Given the description of an element on the screen output the (x, y) to click on. 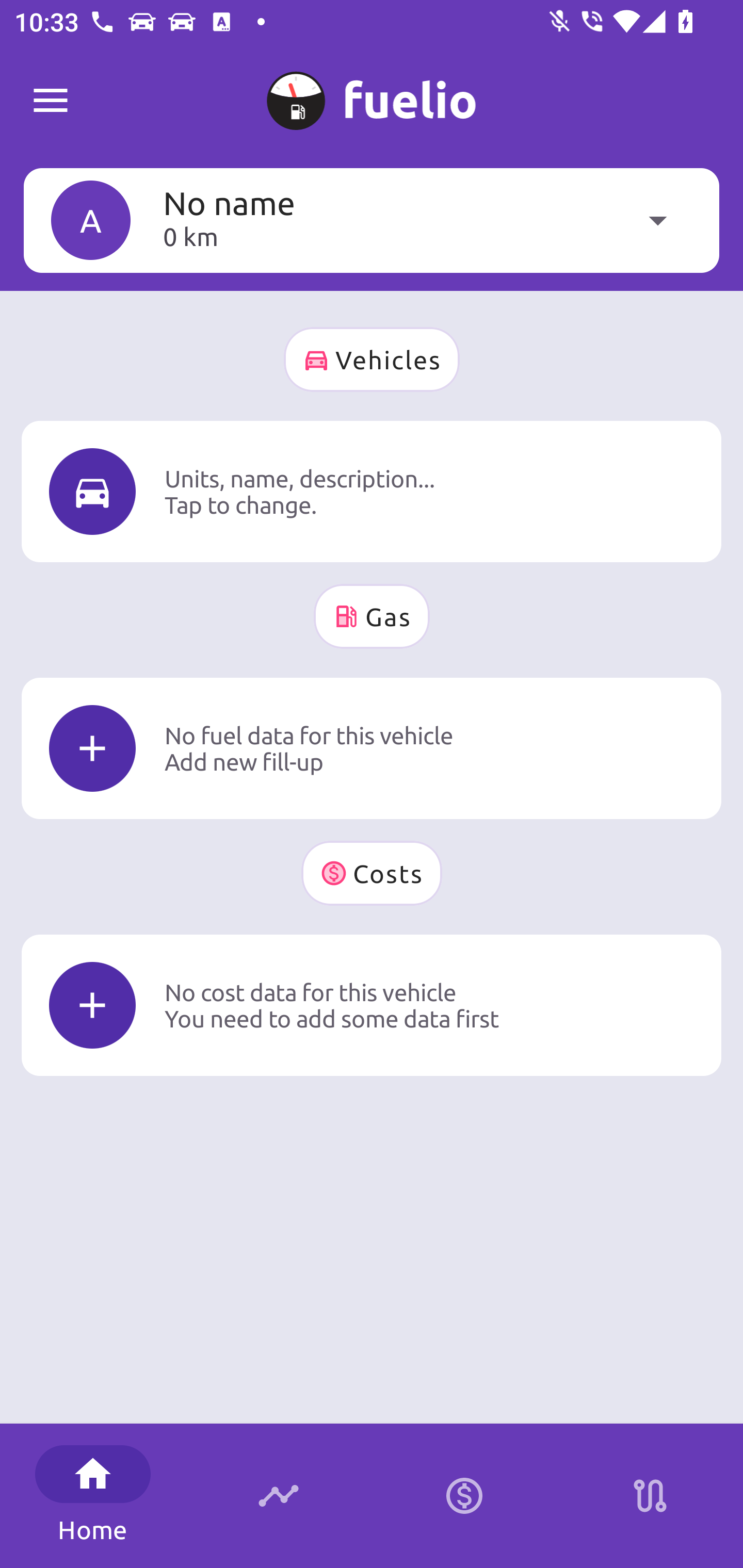
Fuelio (50, 101)
A No name 0 km (371, 219)
Vehicles (371, 359)
Icon Units, name, description...
Tap to change. (371, 491)
Icon (92, 491)
Gas (371, 616)
Icon No fuel data for this vehicle
Add new fill-up (371, 747)
Icon (92, 748)
Costs (371, 873)
Icon (92, 1004)
Timeline (278, 1495)
Calculator (464, 1495)
Stations on route (650, 1495)
